Given the description of an element on the screen output the (x, y) to click on. 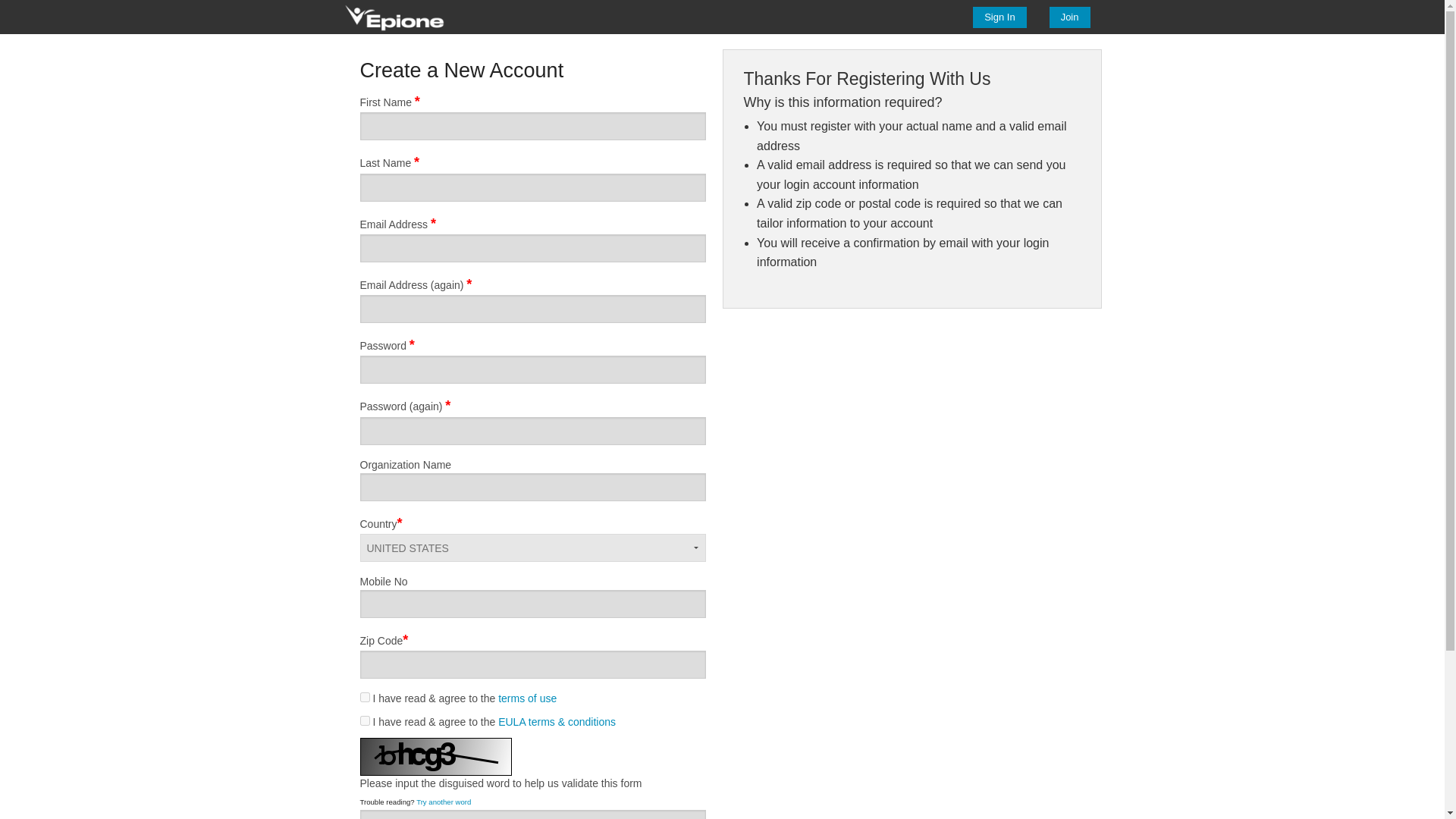
accept (364, 696)
Sign In (999, 16)
accept (364, 720)
Join (1069, 16)
Try another word (443, 801)
terms of use (526, 698)
